Given the description of an element on the screen output the (x, y) to click on. 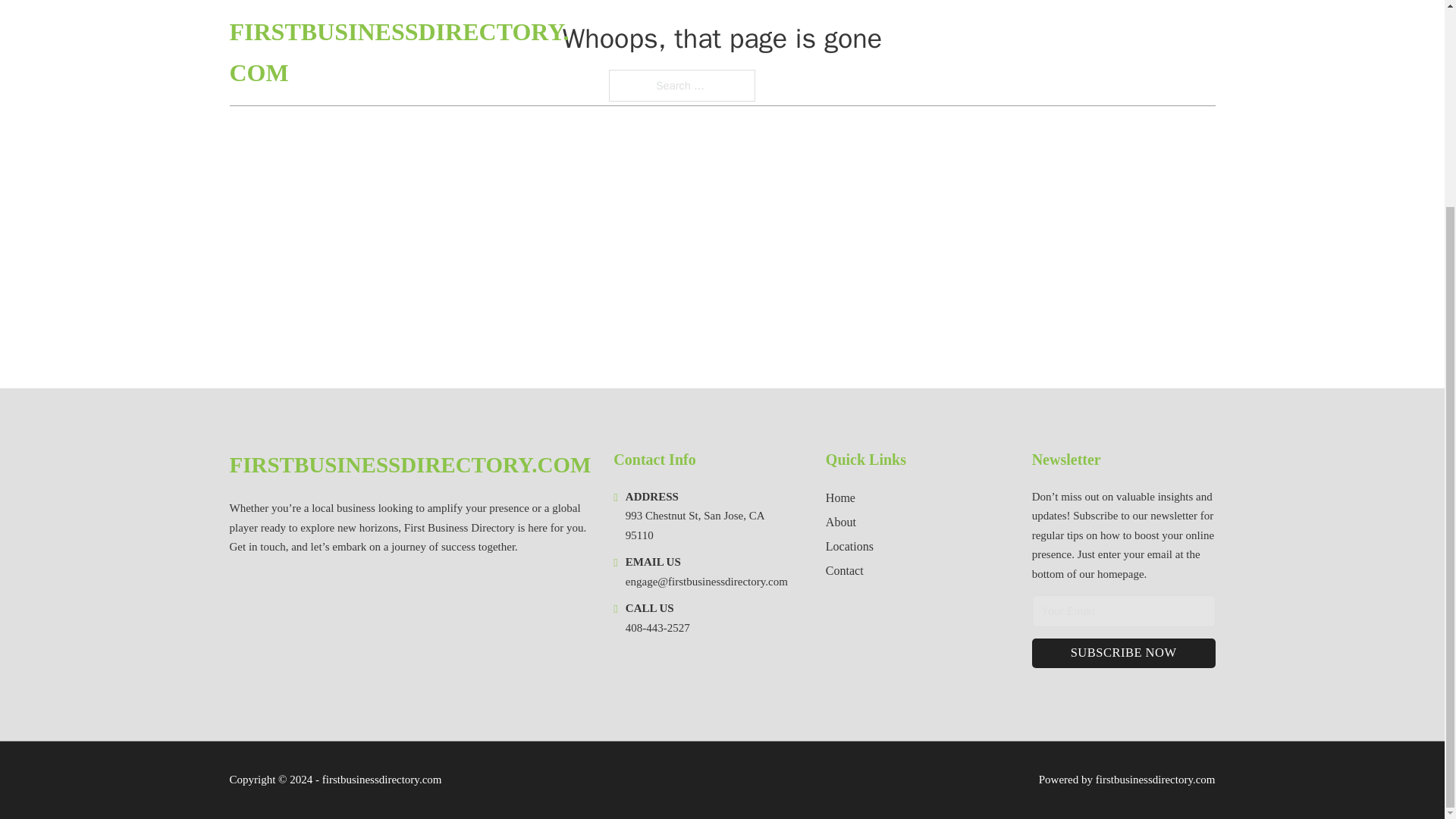
408-443-2527 (658, 627)
About (840, 521)
Locations (849, 546)
FIRSTBUSINESSDIRECTORY.COM (409, 465)
Home (840, 497)
Contact (844, 570)
SUBSCRIBE NOW (1123, 653)
